Given the description of an element on the screen output the (x, y) to click on. 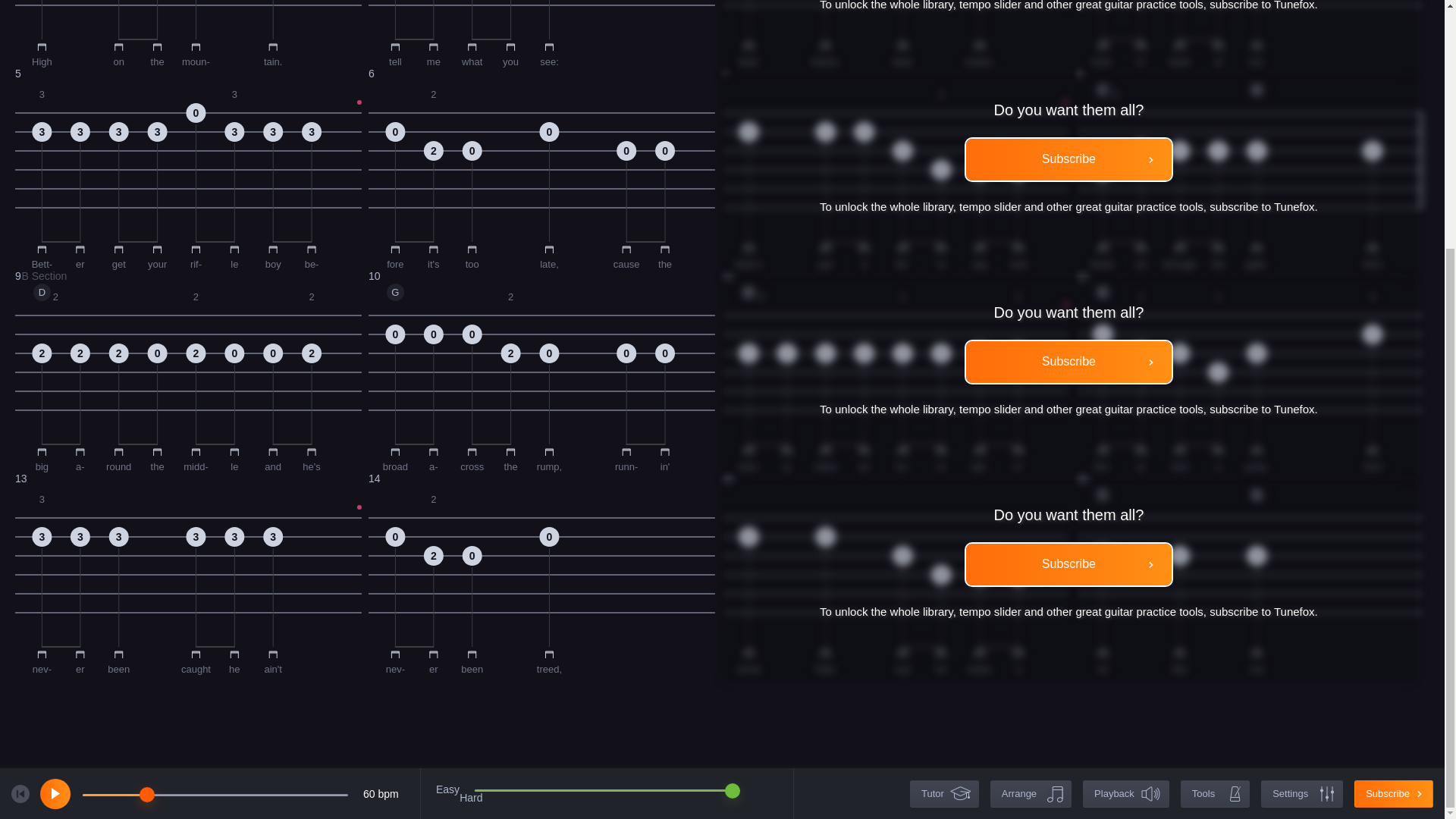
Subscribe (541, 31)
